Given the description of an element on the screen output the (x, y) to click on. 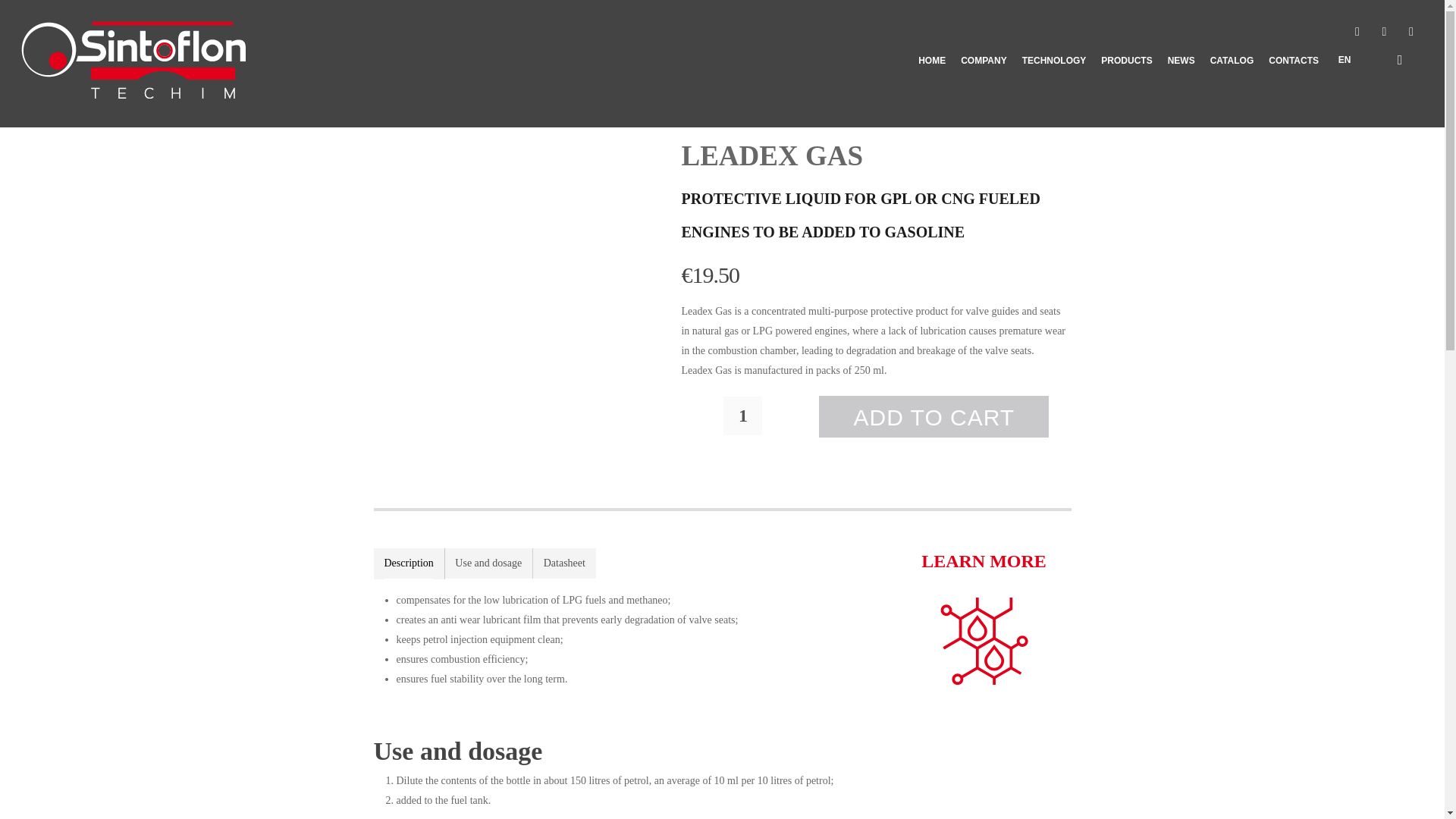
TECHNOLOGY (1054, 87)
Qty (742, 415)
1 (742, 415)
